Given the description of an element on the screen output the (x, y) to click on. 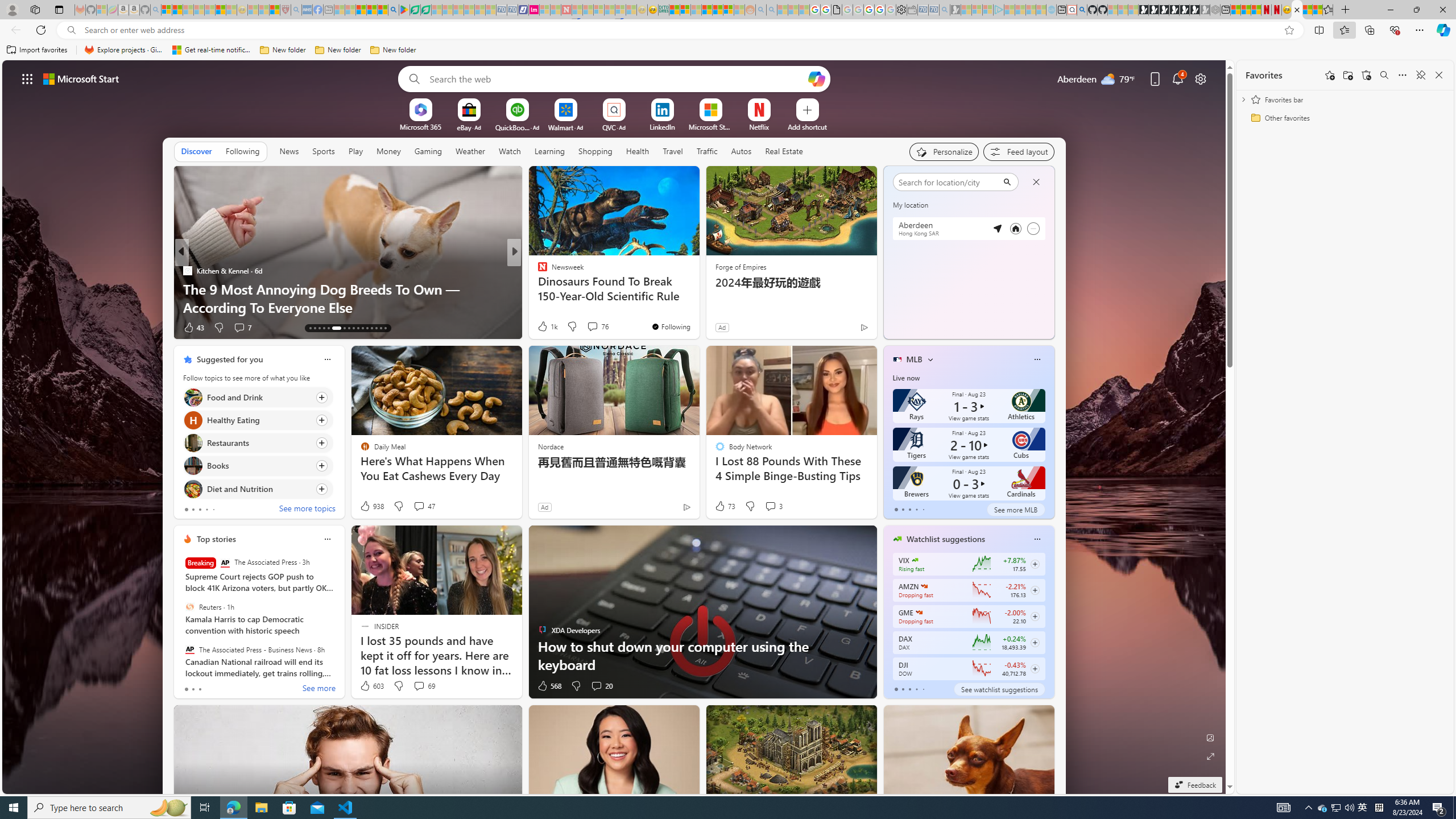
Expert Portfolios (707, 9)
Class: weather-arrow-glyph (1043, 208)
See more topics (306, 509)
Close favorites (1439, 74)
Watchlist suggestions (945, 538)
Suggested for you (229, 359)
Search favorites (1383, 74)
568 Like (548, 685)
